Given the description of an element on the screen output the (x, y) to click on. 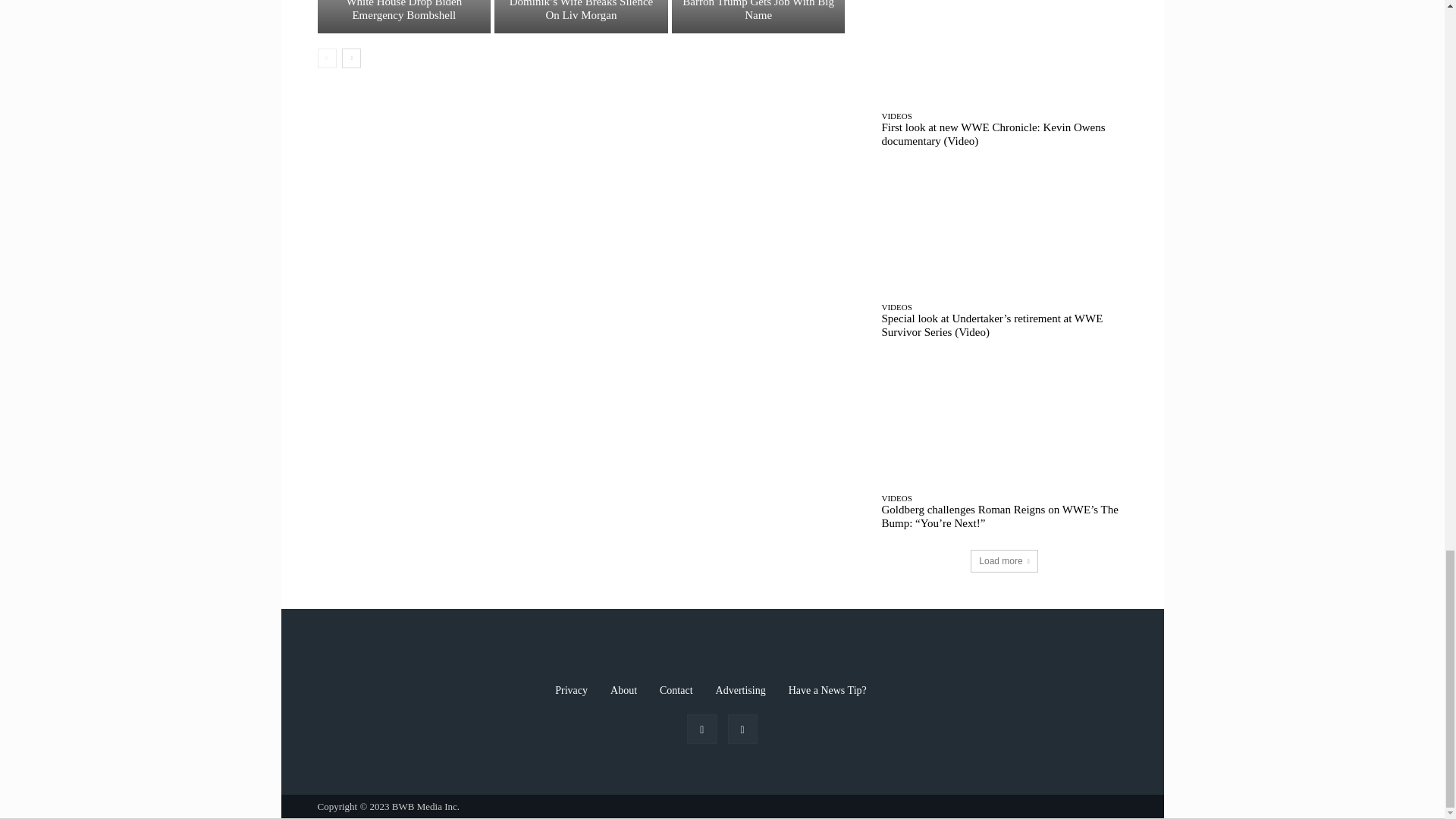
Barron Trump Gets Job With Big Name (758, 16)
White House Drop Biden Emergency Bombshell (403, 16)
Barron Trump Gets Job With Big Name (758, 10)
White House Drop Biden Emergency Bombshell (403, 10)
